Given the description of an element on the screen output the (x, y) to click on. 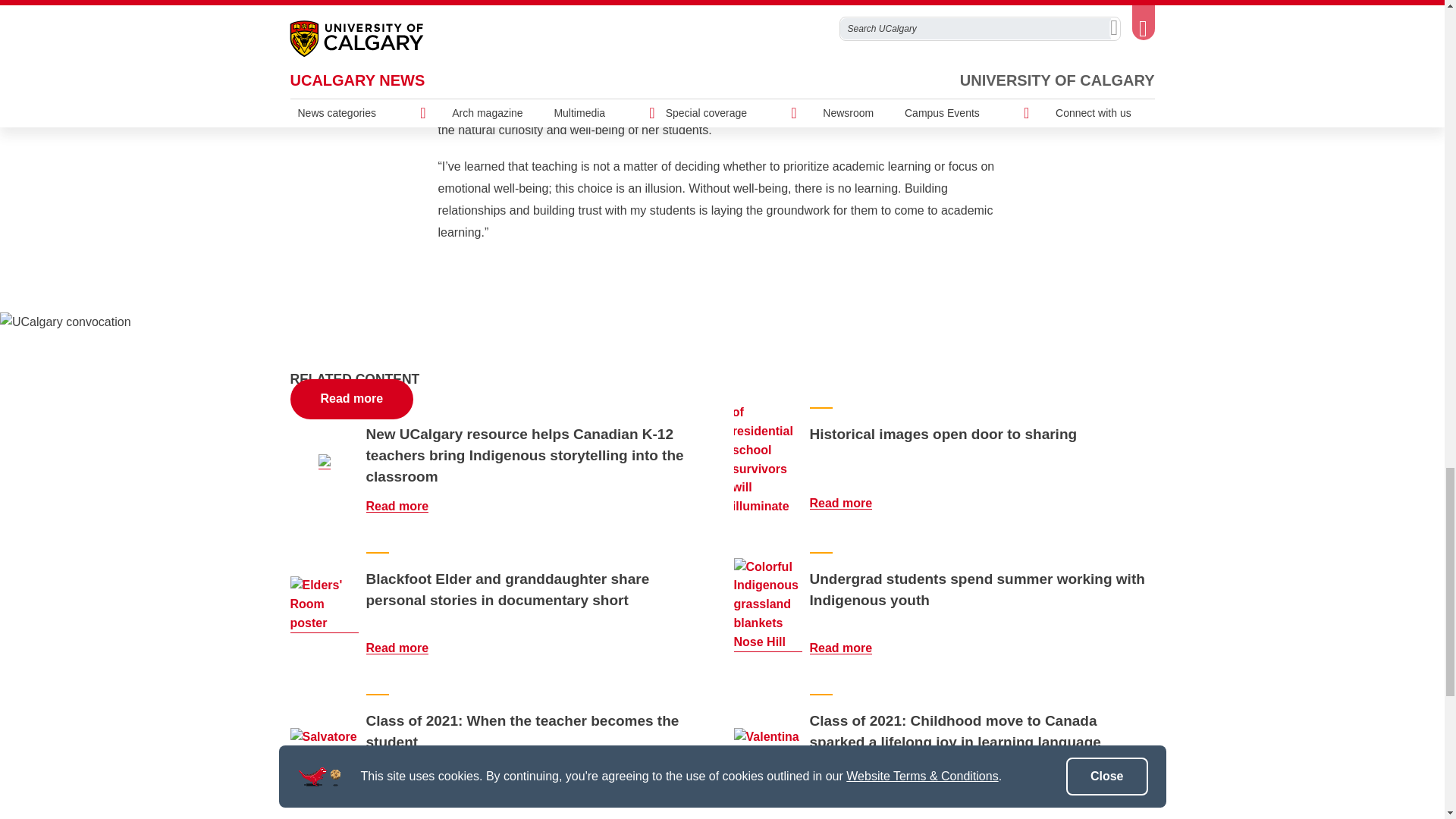
Class of 2021: When the teacher becomes the student (323, 746)
Historical images open door to sharing (850, 502)
Class of 2021: When the teacher becomes the student (405, 789)
